Given the description of an element on the screen output the (x, y) to click on. 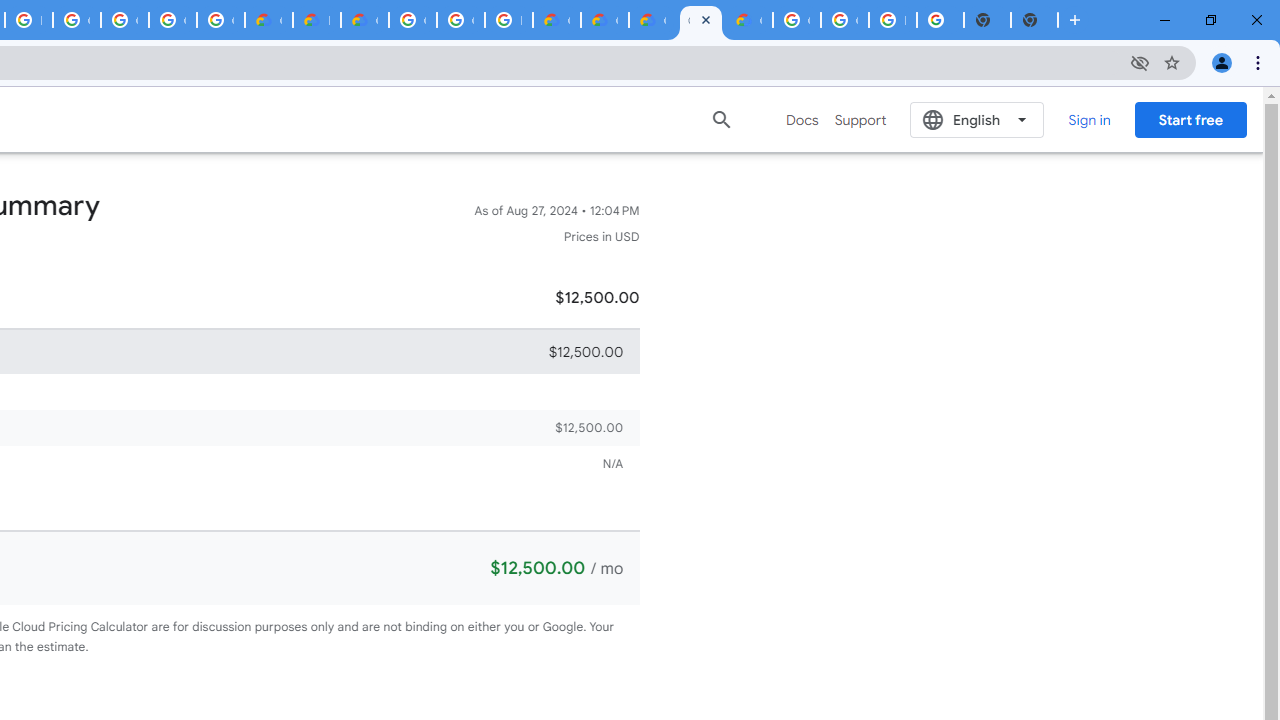
Google Cloud Platform (844, 20)
Support (860, 119)
Google Cloud Service Health (748, 20)
Google Workspace - Specific Terms (172, 20)
Docs (802, 119)
Start free (1190, 119)
Google Cloud Platform (412, 20)
Gemini for Business and Developers | Google Cloud (364, 20)
